Given the description of an element on the screen output the (x, y) to click on. 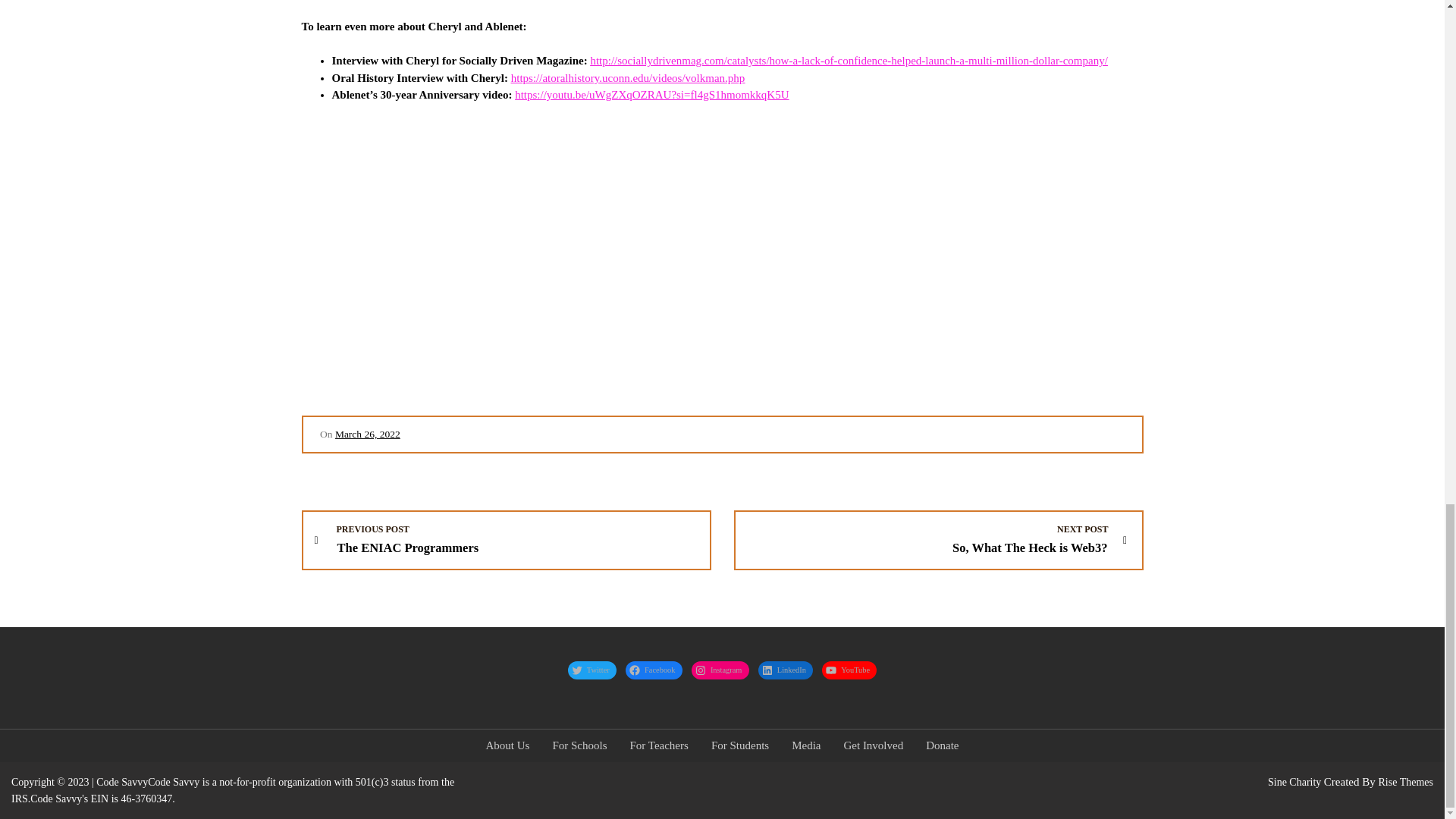
AbleNet 30-Year Anniversary (544, 256)
